Given the description of an element on the screen output the (x, y) to click on. 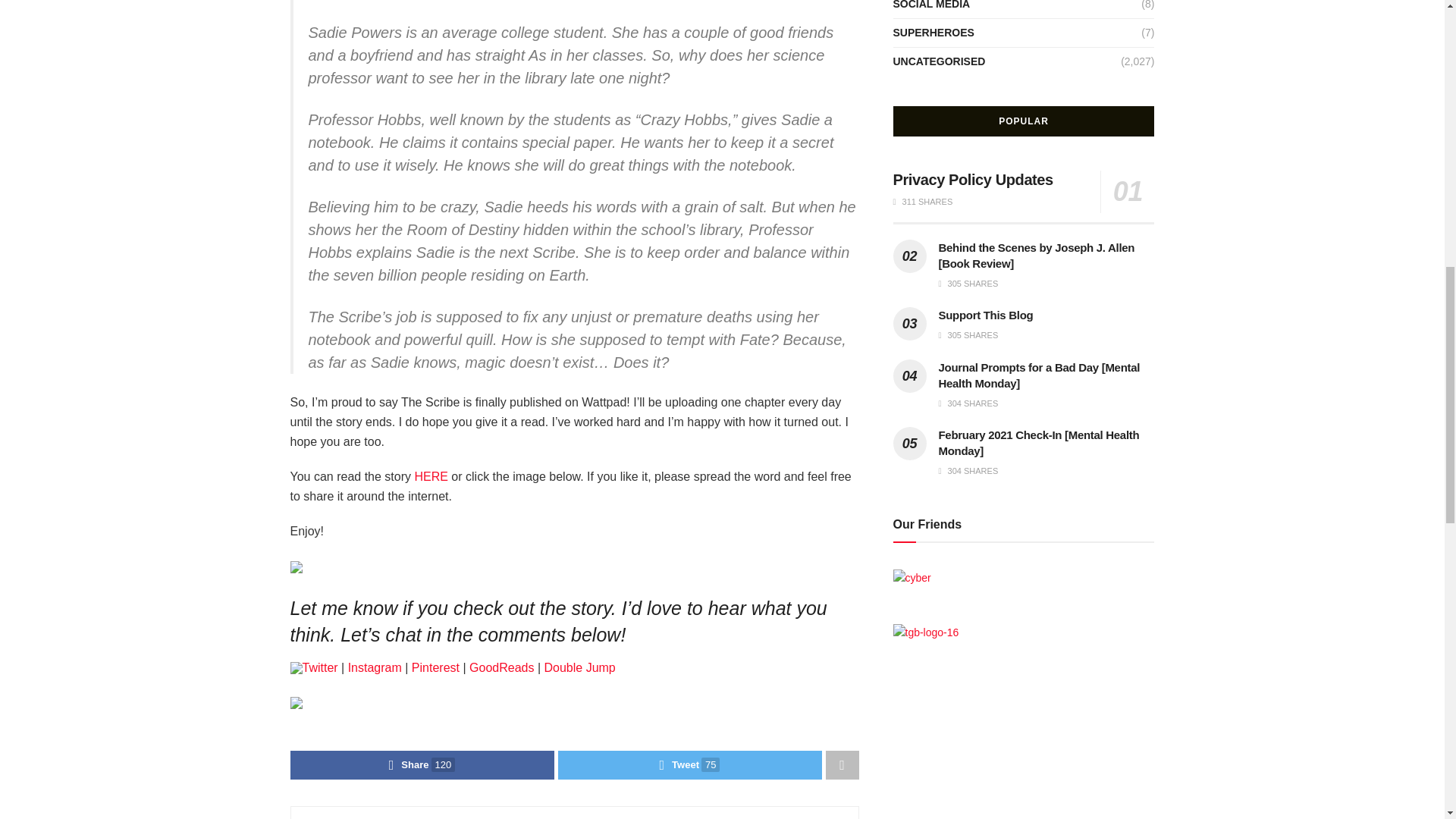
Double Jump (578, 667)
Pinterest (436, 667)
Tweet75 (689, 765)
Instagram (374, 667)
GoodReads (501, 667)
Share120 (421, 765)
HERE (429, 476)
Twitter (319, 667)
